Given the description of an element on the screen output the (x, y) to click on. 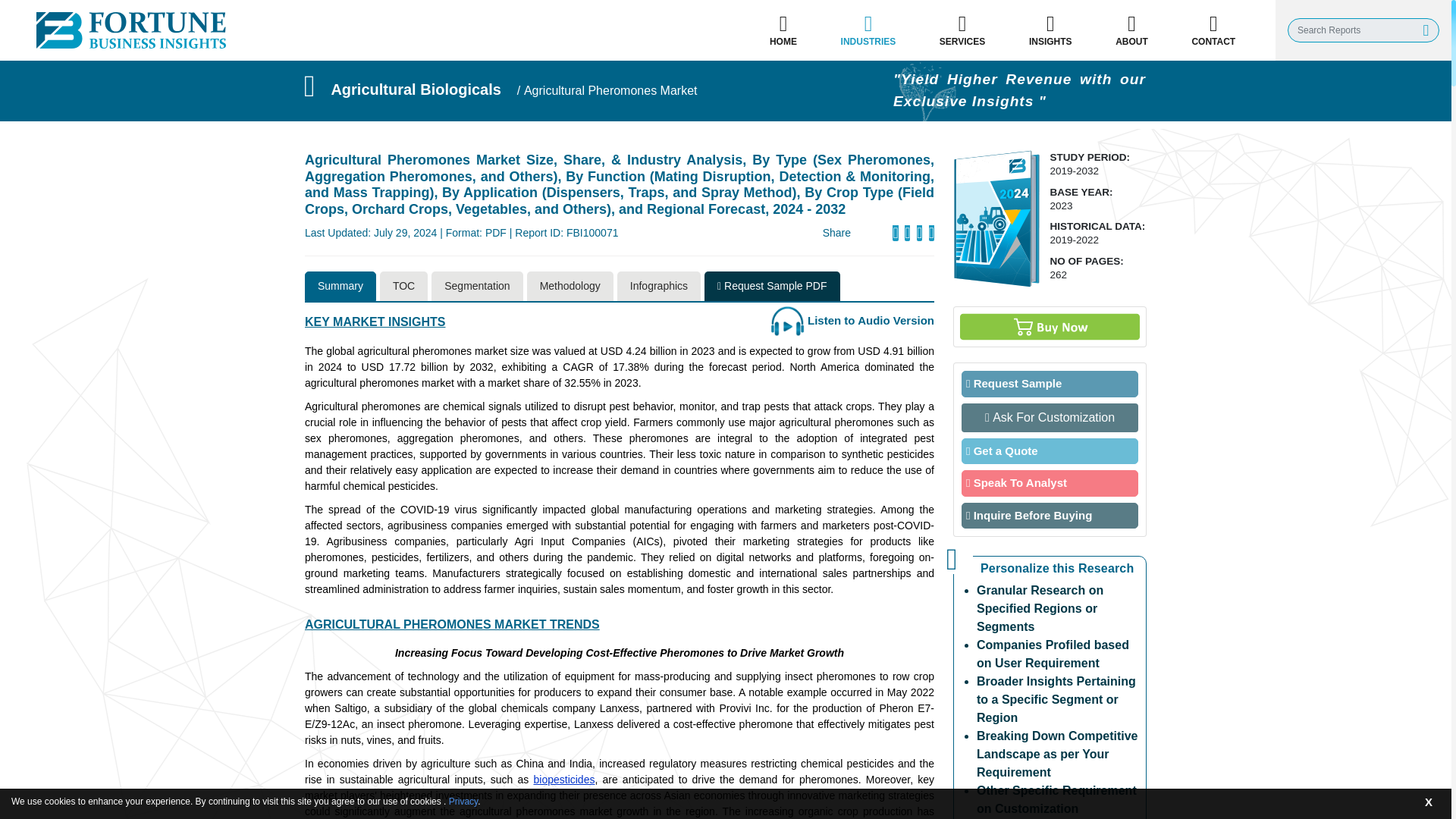
SERVICES (962, 29)
INDUSTRIES (867, 29)
INSIGHTS (1050, 29)
